Given the description of an element on the screen output the (x, y) to click on. 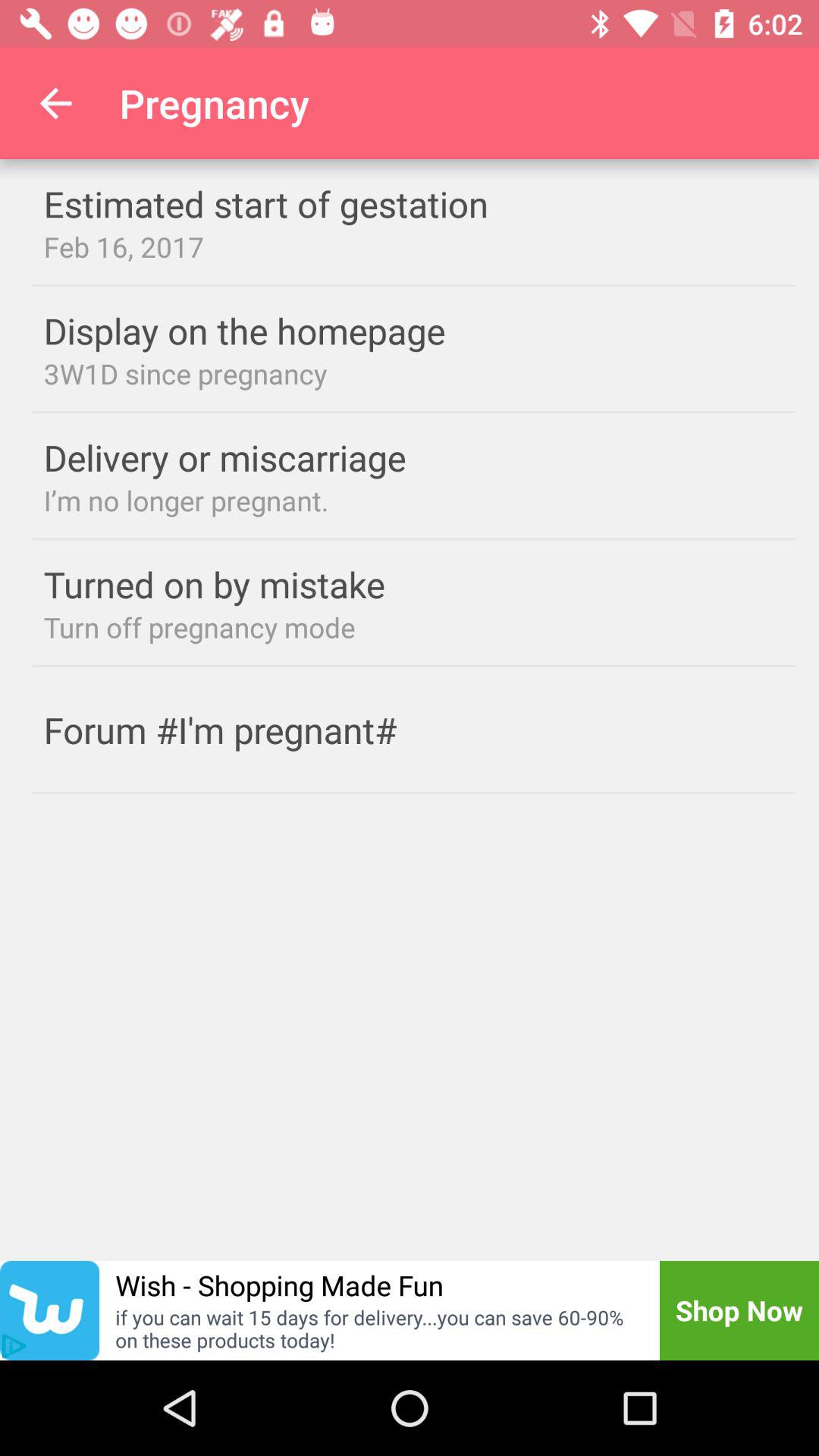
open item to the left of the shop now icon (377, 1329)
